Given the description of an element on the screen output the (x, y) to click on. 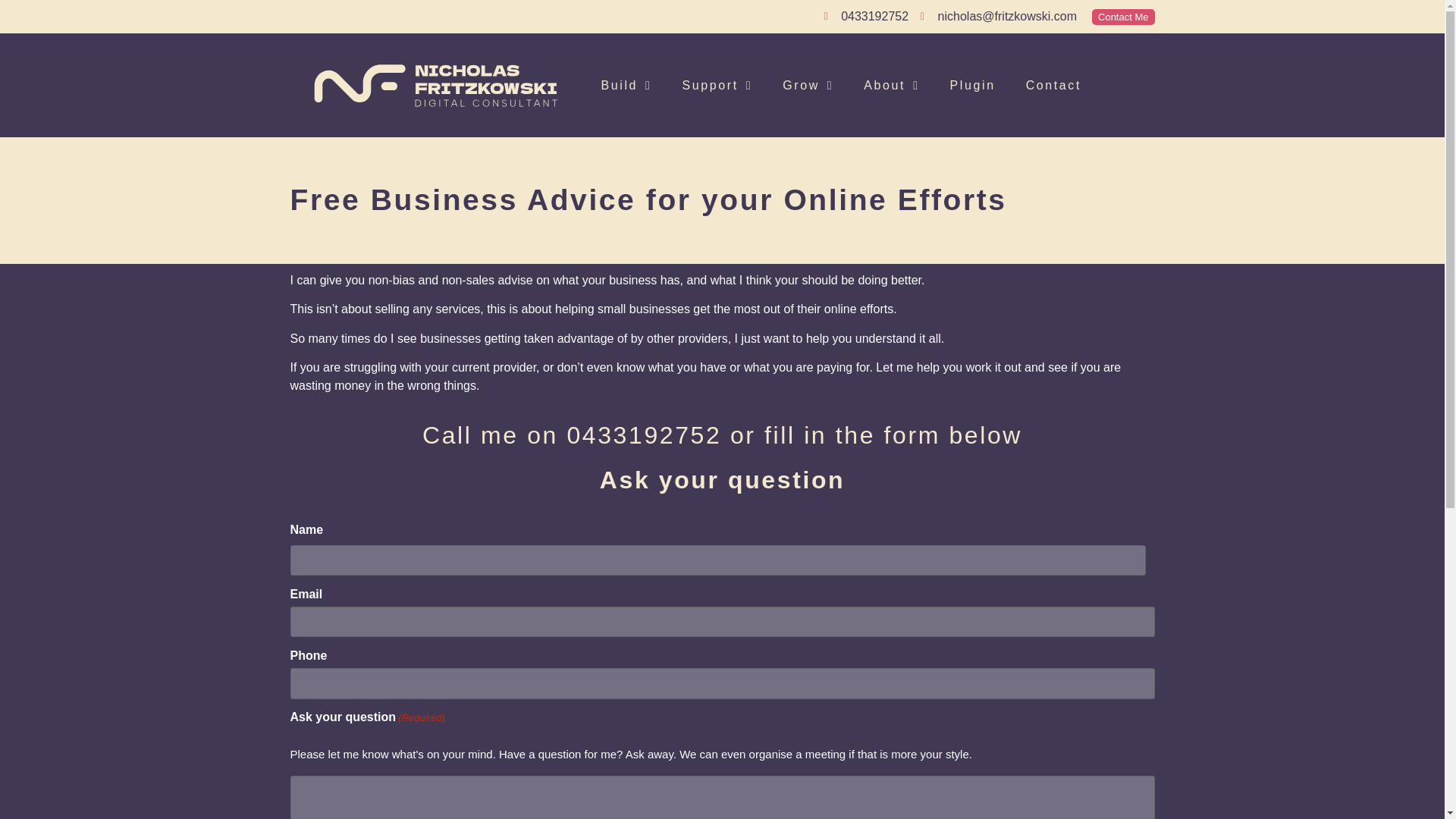
0433192752 (866, 16)
Build (625, 84)
Grow (807, 84)
About (891, 84)
Contact (1053, 84)
Call me on 0433192752 or fill in the form below (722, 434)
Contact Me (1123, 17)
Plugin (972, 84)
Support (717, 84)
